Given the description of an element on the screen output the (x, y) to click on. 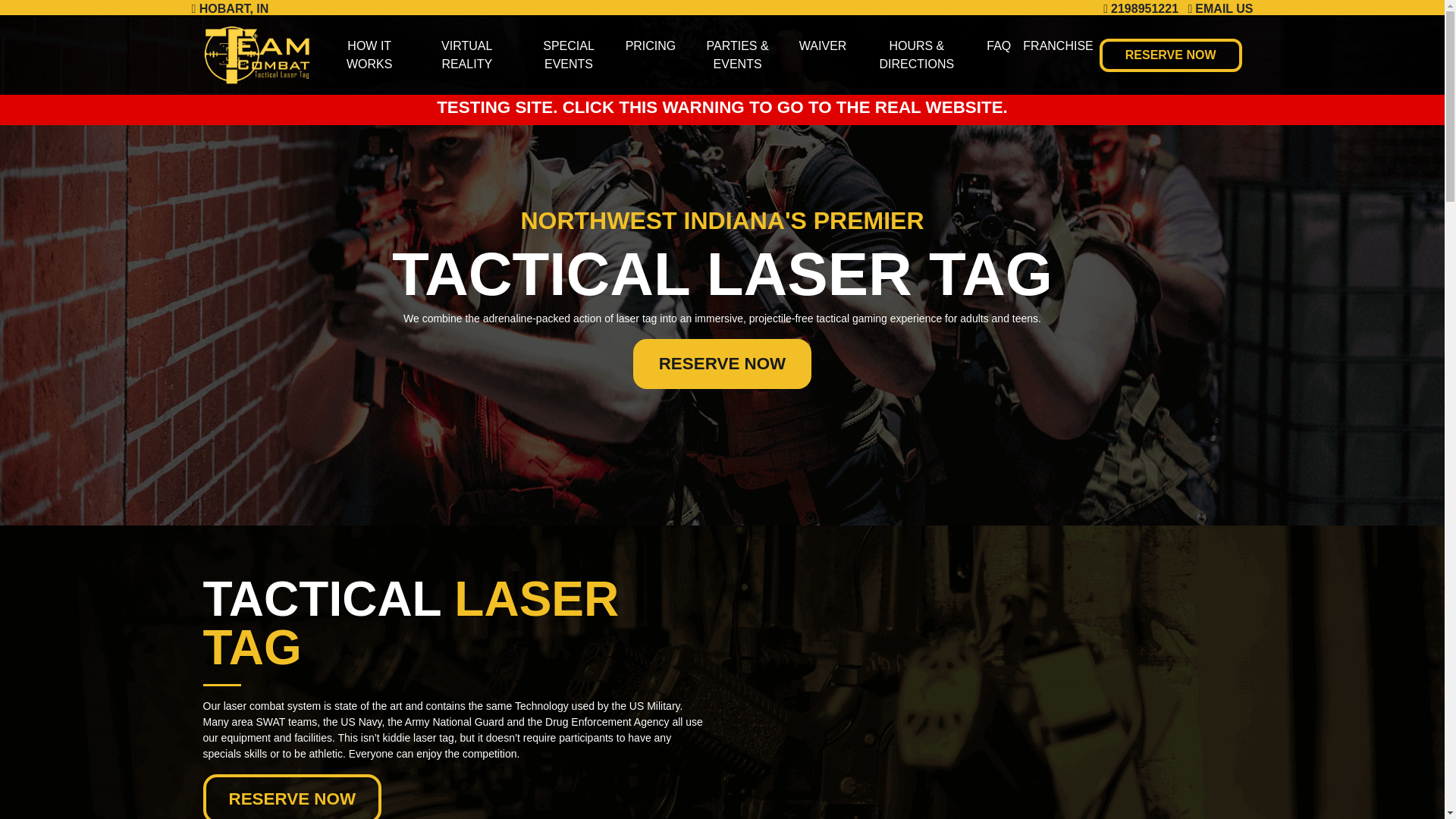
VIRTUAL REALITY (466, 55)
EMAIL US (1220, 9)
RESERVE NOW (722, 364)
RESERVE NOW (292, 796)
FRANCHISE (1057, 46)
HOBART, IN (228, 8)
RESERVE NOW (1170, 55)
TESTING SITE. CLICK THIS WARNING TO GO TO THE REAL WEBSITE. (721, 107)
WAIVER (823, 46)
HOW IT WORKS (368, 55)
2198951221 (1143, 8)
SPECIAL EVENTS (568, 55)
FAQ (997, 46)
PRICING (651, 46)
